Given the description of an element on the screen output the (x, y) to click on. 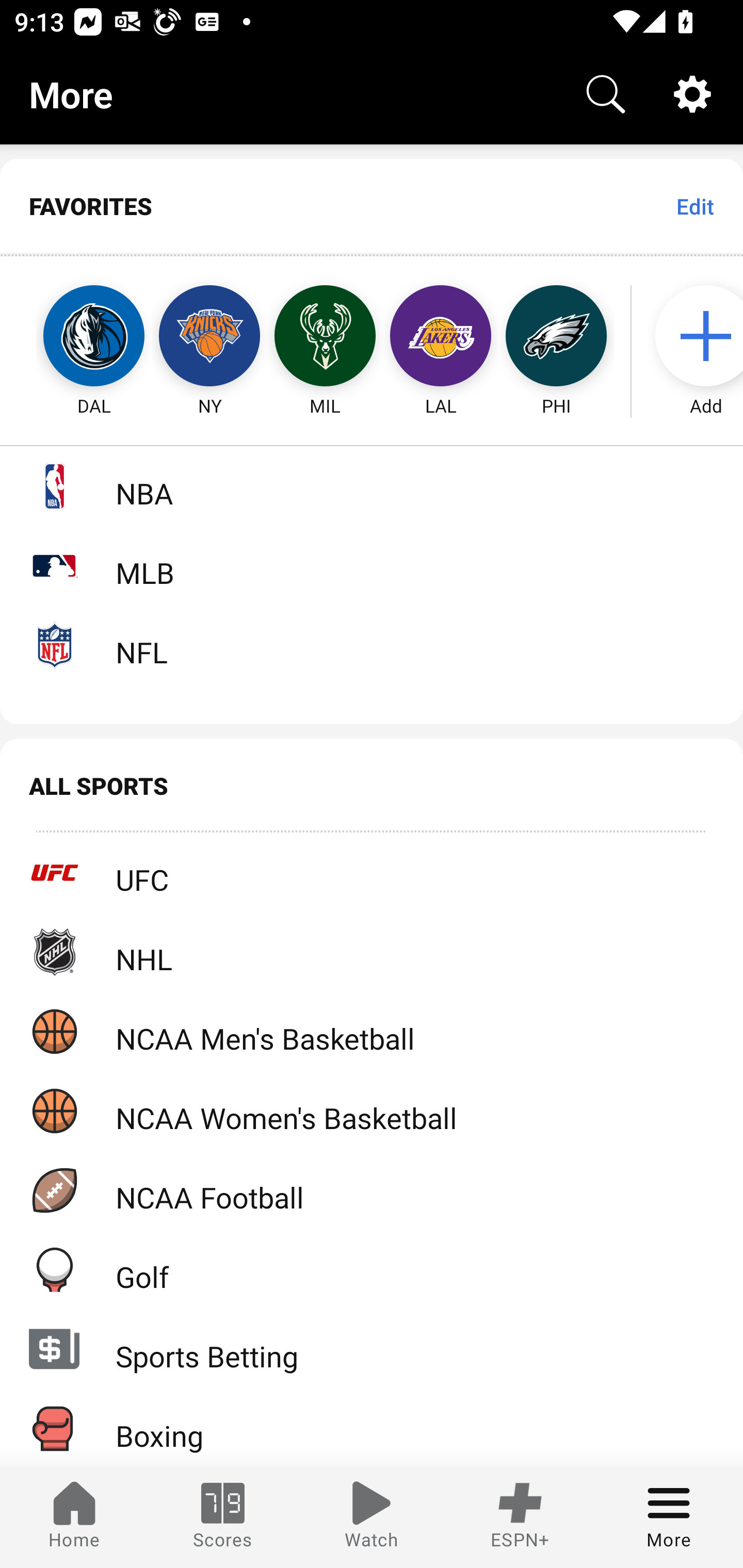
Search (605, 93)
Settings (692, 93)
Edit (695, 205)
DAL Dallas Mavericks (75, 336)
NY New York Knicks (209, 336)
MIL Milwaukee Bucks (324, 336)
LAL Los Angeles Lakers (440, 336)
PHI Philadelphia Eagles (555, 336)
 Add (695, 336)
NBA (371, 485)
MLB (371, 565)
NFL (371, 645)
UFC (371, 872)
NHL (371, 951)
NCAA Men's Basketball (371, 1030)
NCAA Women's Basketball (371, 1110)
NCAA Football (371, 1189)
Golf (371, 1269)
Sports Betting (371, 1349)
Boxing (371, 1428)
Home (74, 1517)
Scores (222, 1517)
Watch (371, 1517)
ESPN+ (519, 1517)
